Given the description of an element on the screen output the (x, y) to click on. 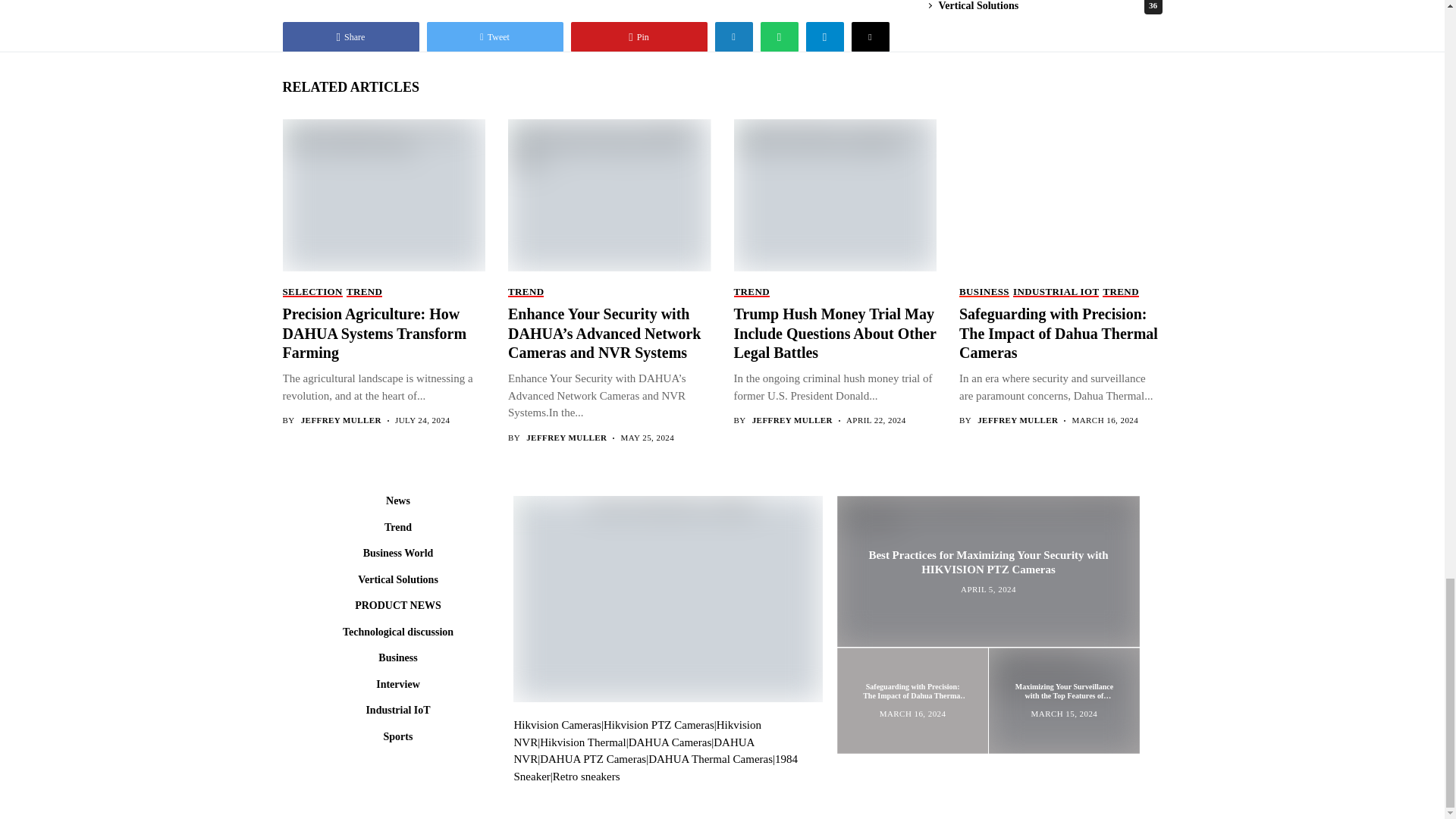
HIKVISION Cameras (557, 725)
Posts by Jeffrey Muller (1017, 420)
Posts by Jeffrey Muller (566, 438)
Posts by Jeffrey Muller (792, 420)
Precision Agriculture: How DAHUA Systems Transform Farming (382, 194)
Posts by Jeffrey Muller (341, 420)
